Given the description of an element on the screen output the (x, y) to click on. 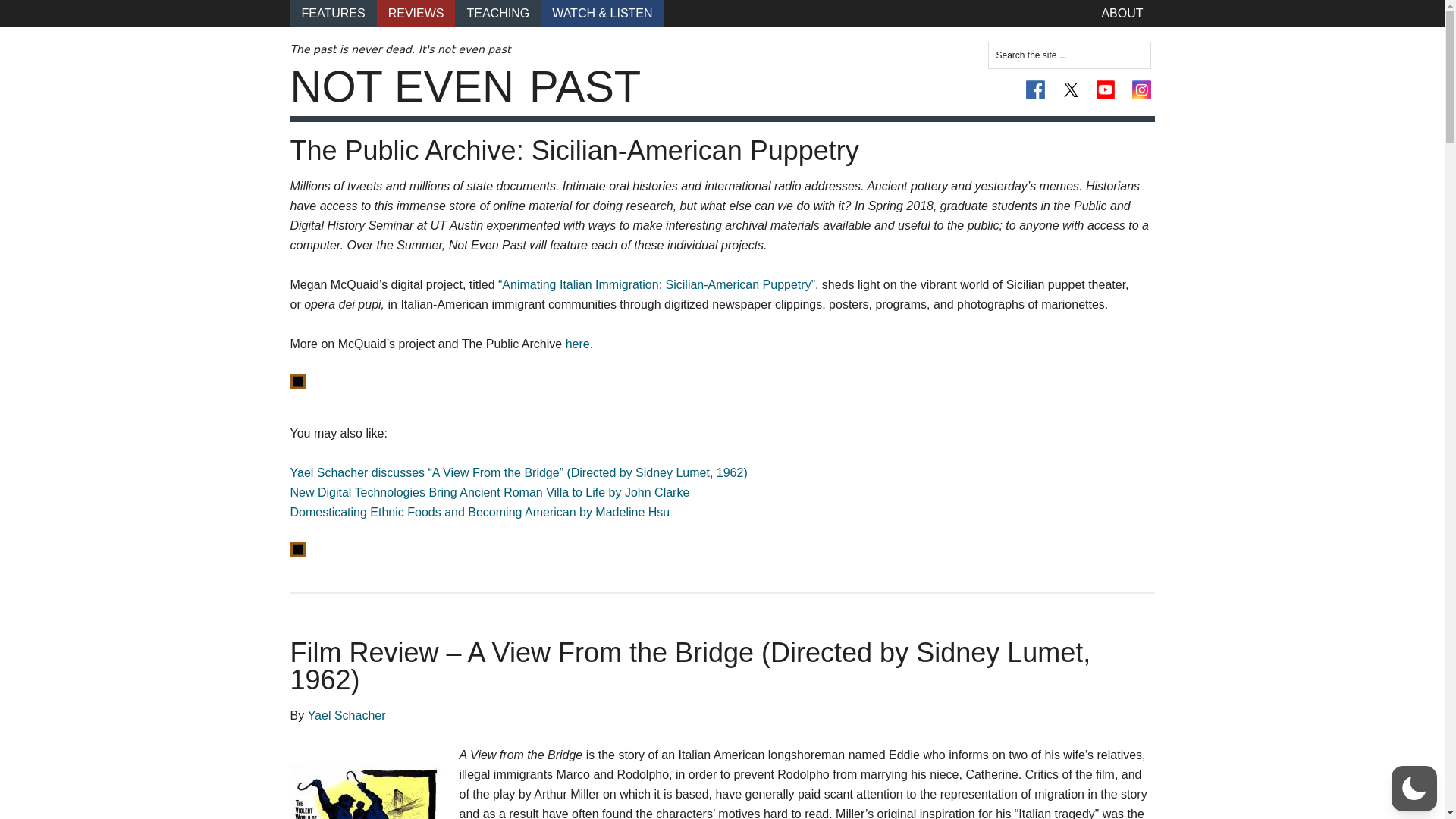
Instagram (1140, 89)
here (577, 343)
On Facebook (1035, 89)
YouTube Channel (1105, 89)
ABOUT (1121, 13)
NOT EVEN PAST (464, 85)
FEATURES (332, 13)
Yael Schacher (346, 715)
REVIEWS (416, 13)
TEACHING (497, 13)
